Given the description of an element on the screen output the (x, y) to click on. 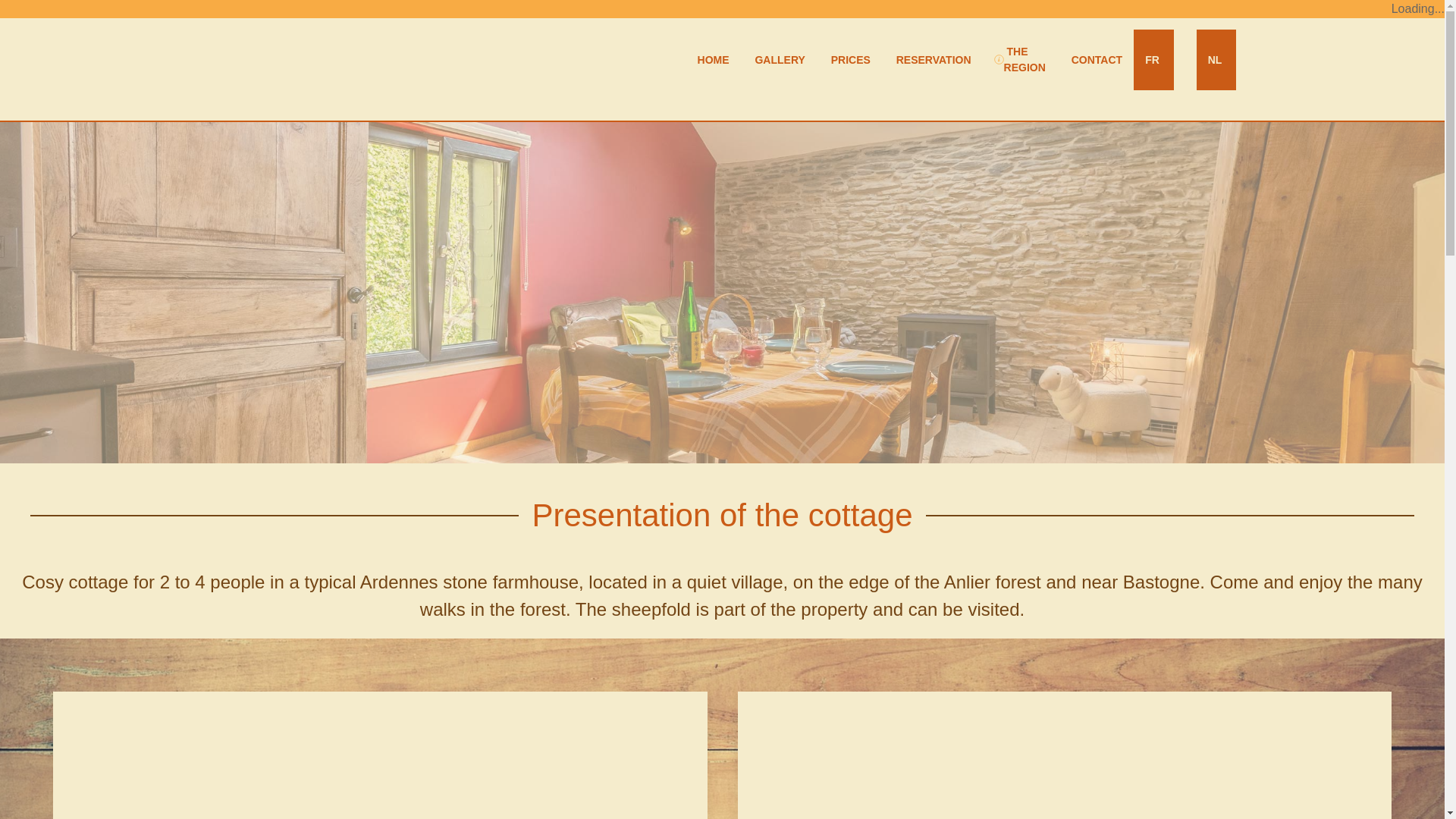
 HOME Element type: text (711, 59)
FR  Element type: text (1153, 59)
 THE REGION Element type: text (1019, 59)
NL  Element type: text (1216, 59)
 RESERVATION Element type: text (931, 59)
 CONTACT Element type: text (1095, 59)
 PRICES Element type: text (848, 59)
 GALLERY Element type: text (778, 59)
